Given the description of an element on the screen output the (x, y) to click on. 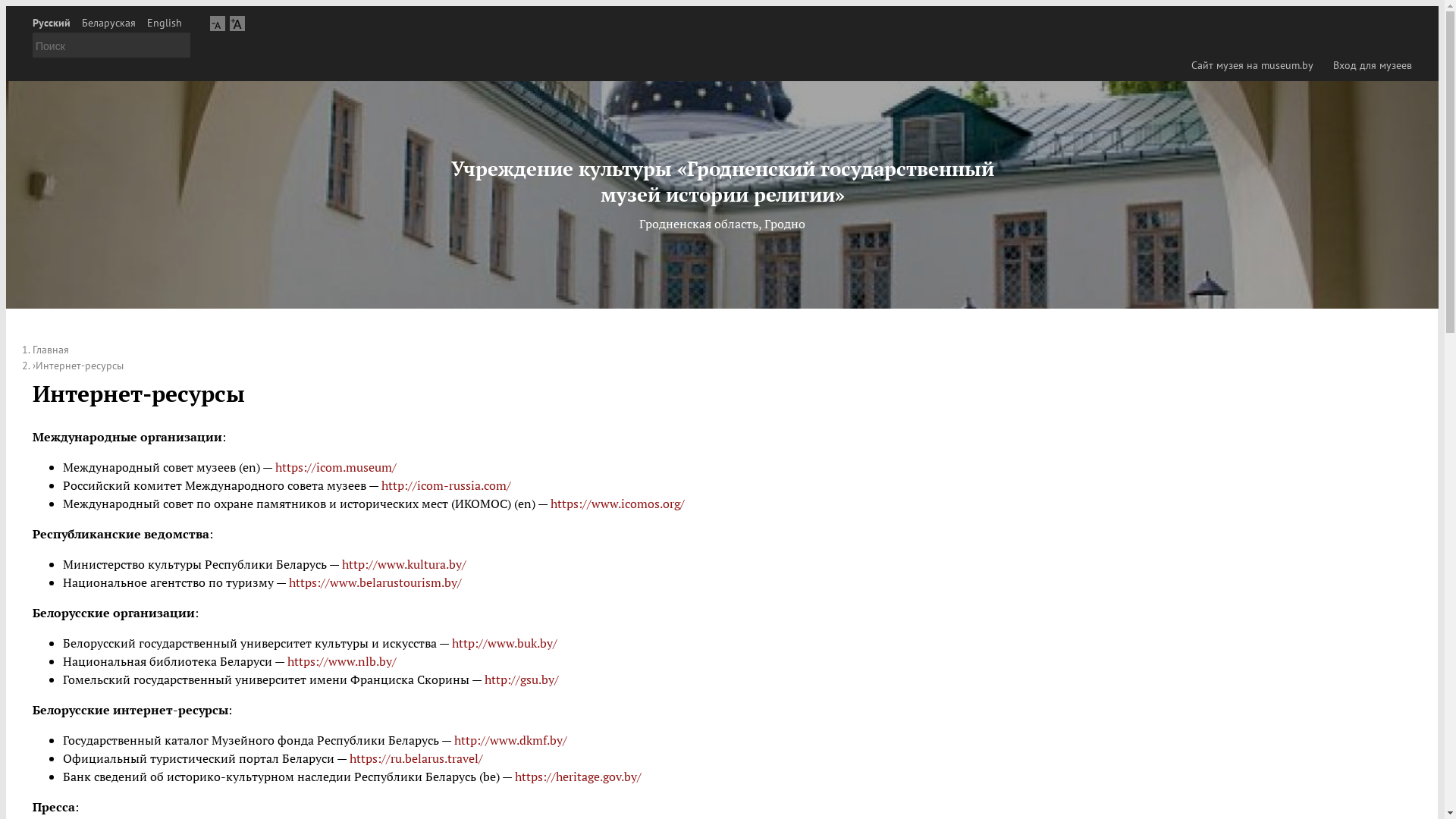
https://www.nlb.by/ Element type: text (341, 660)
http://gsu.by/ Element type: text (521, 679)
http://www.buk.by/ Element type: text (504, 642)
https://icom.museum/ Element type: text (335, 466)
English Element type: text (164, 23)
A Element type: text (217, 22)
http://icom-russia.com/ Element type: text (444, 484)
http://www.dkmf.by/ Element type: text (509, 739)
http://www.kultura.by/ Element type: text (404, 563)
https://www.icomos.org/ Element type: text (617, 503)
A Element type: text (236, 22)
https://heritage.gov.by/ Element type: text (577, 776)
https://ru.belarus.travel/ Element type: text (416, 757)
https://www.belarustourism.by/ Element type: text (374, 582)
